Given the description of an element on the screen output the (x, y) to click on. 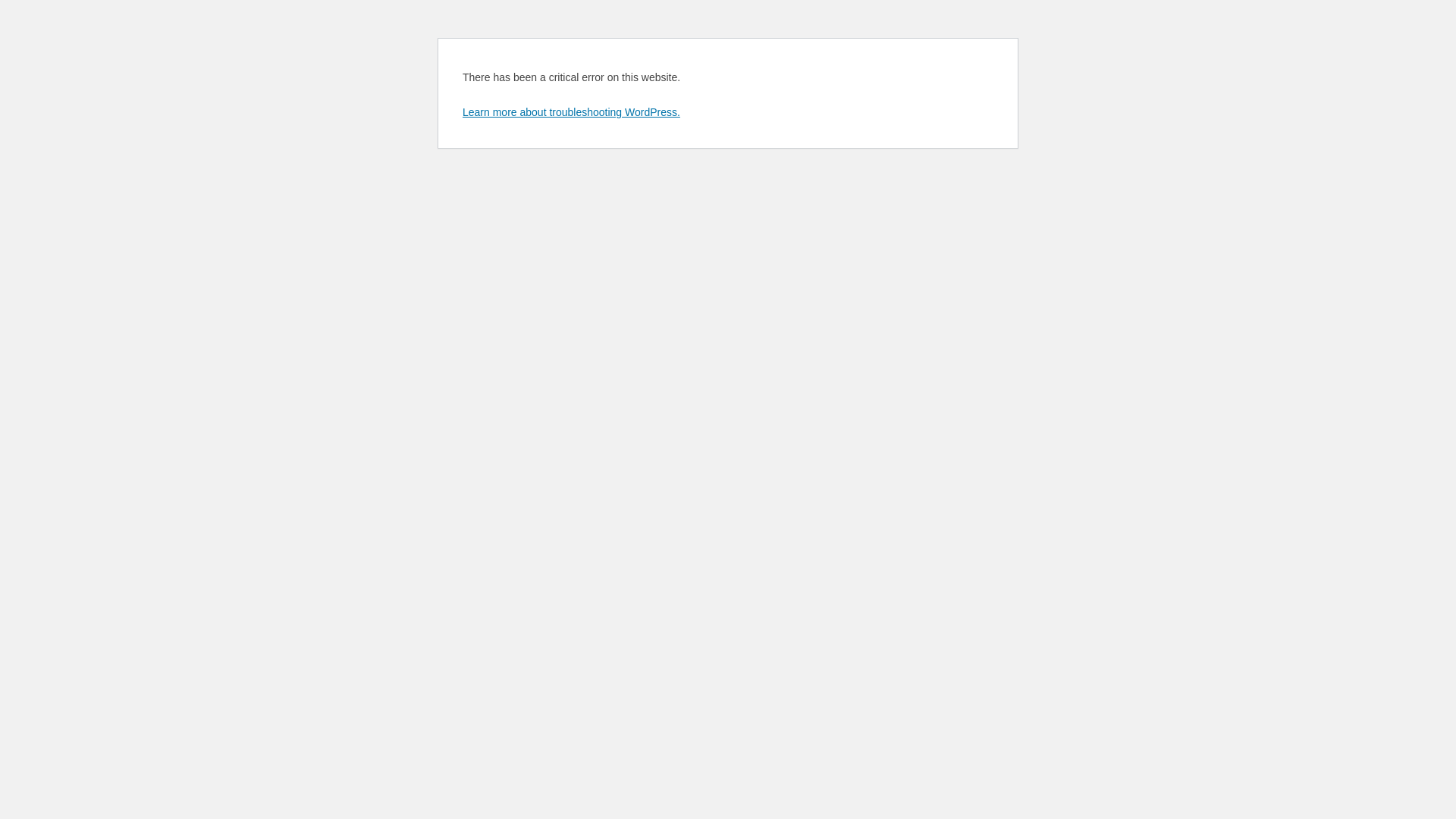
Learn more about troubleshooting WordPress. Element type: text (571, 112)
